Given the description of an element on the screen output the (x, y) to click on. 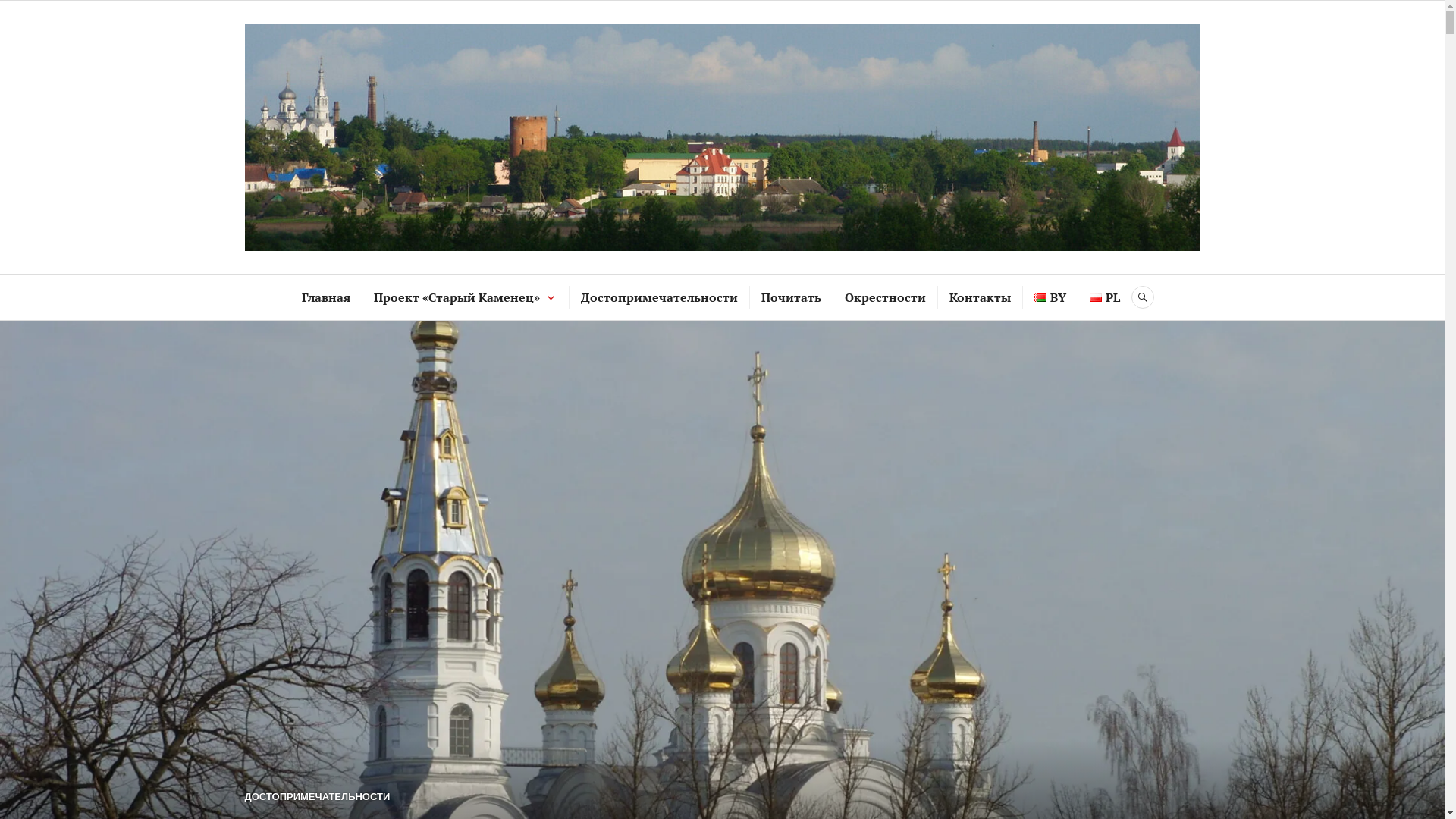
BY Element type: text (1050, 296)
PL Element type: text (1104, 296)
